Given the description of an element on the screen output the (x, y) to click on. 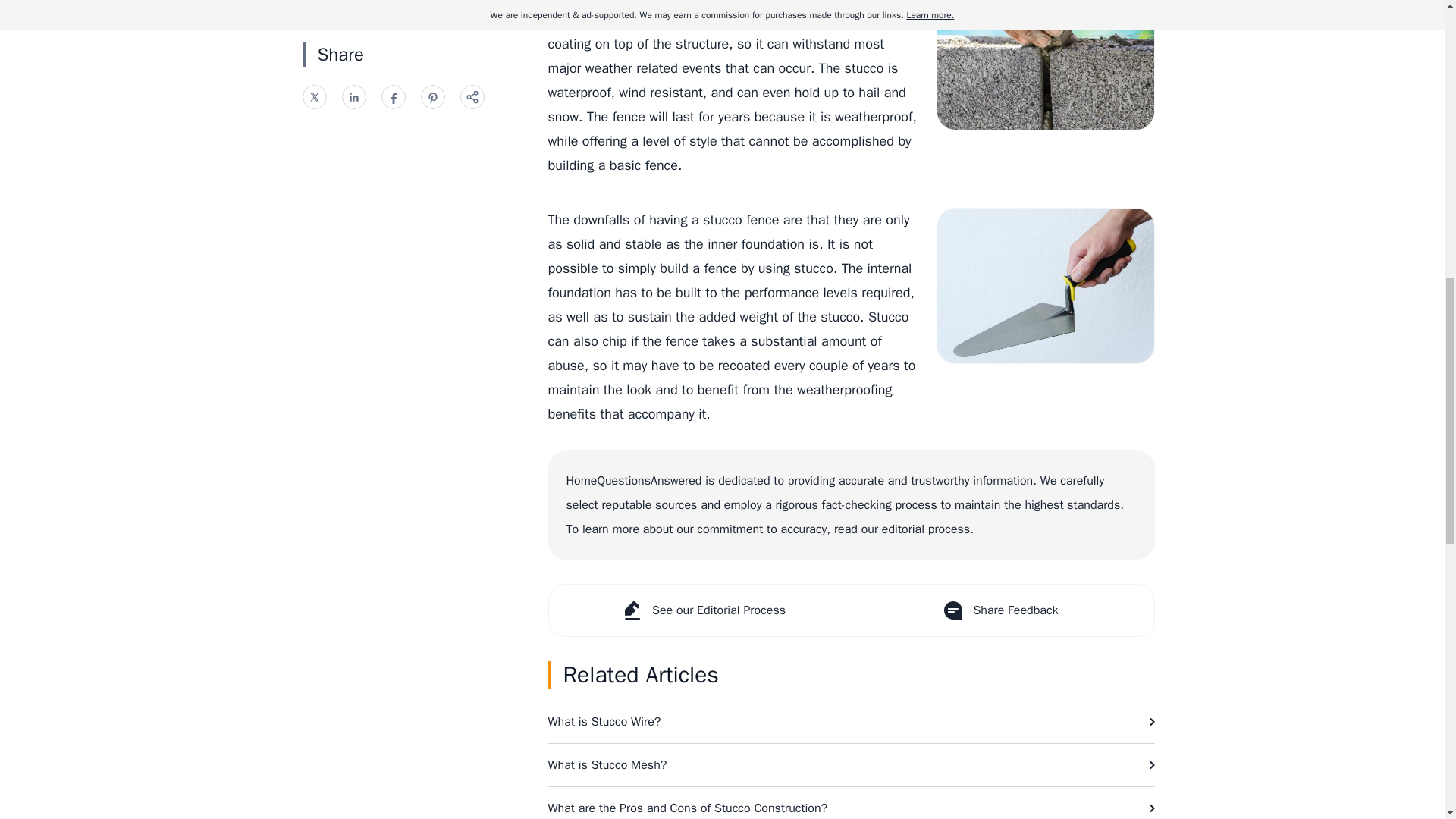
Share Feedback (1001, 610)
What are the Pros and Cons of Stucco Construction? (850, 803)
See our Editorial Process (699, 610)
What is Stucco Mesh? (850, 764)
What is Stucco Wire? (850, 721)
